Given the description of an element on the screen output the (x, y) to click on. 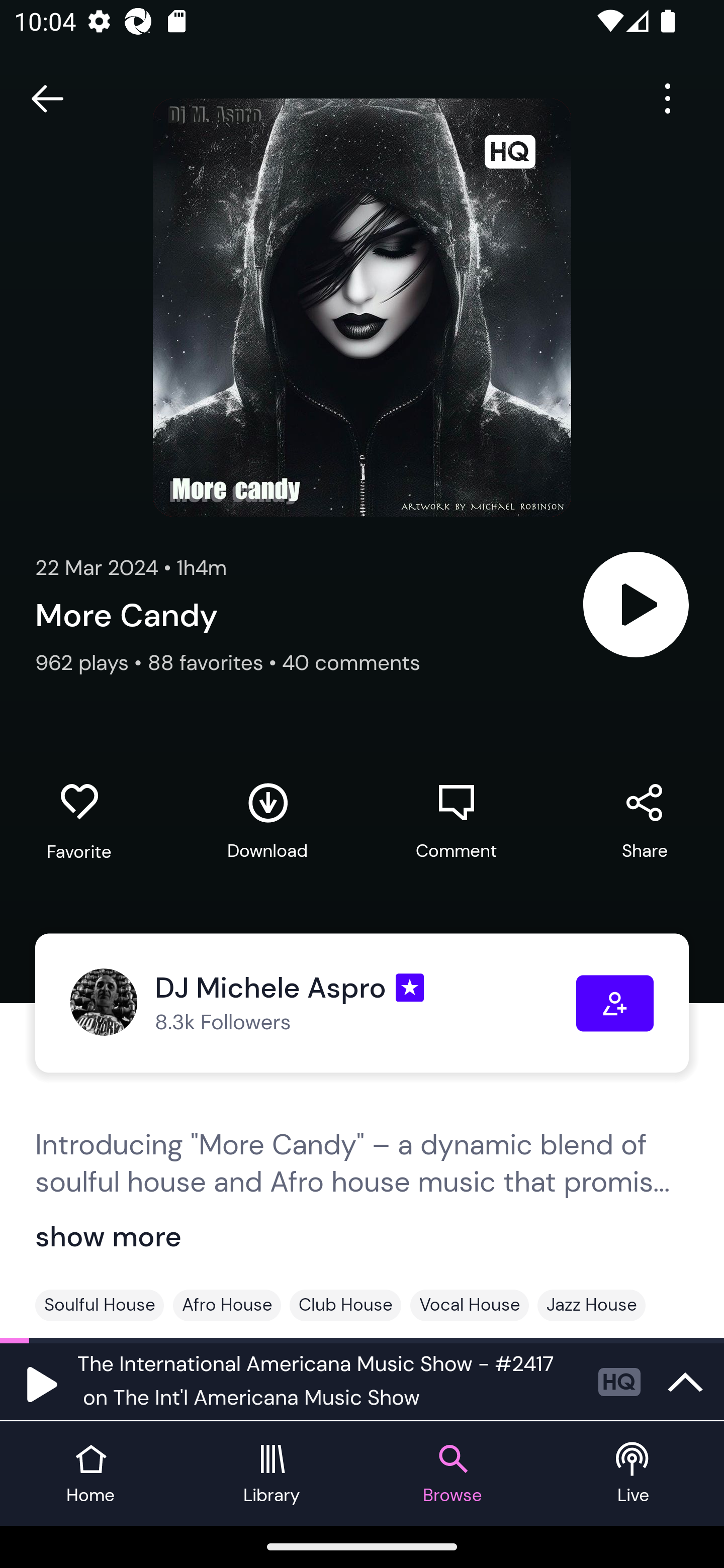
88 favorites •  (214, 662)
40 comments (351, 662)
Favorite (79, 821)
Download (267, 821)
Comment (455, 821)
Share (644, 821)
Follow (614, 1003)
Soulful House (99, 1304)
Afro House (226, 1304)
Club House (345, 1304)
Vocal House (469, 1304)
Jazz House (591, 1304)
Home tab Home (90, 1473)
Library tab Library (271, 1473)
Browse tab Browse (452, 1473)
Live tab Live (633, 1473)
